Given the description of an element on the screen output the (x, y) to click on. 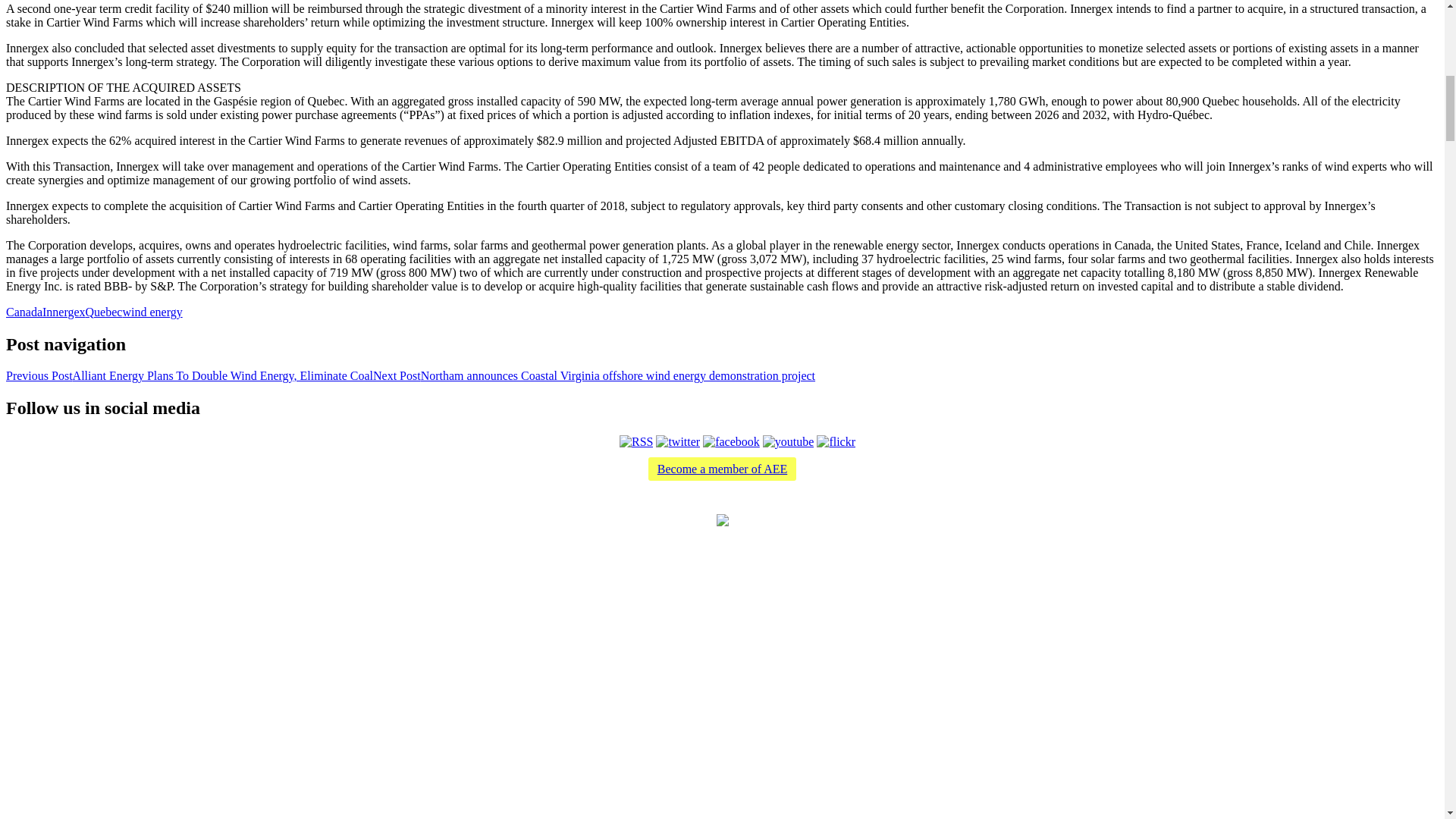
Canada (23, 311)
Innergex (63, 311)
RSS (636, 441)
Become a member of AEE (721, 468)
flickr (836, 440)
youtube (787, 441)
RSS (635, 440)
Quebec (103, 311)
twitter (677, 440)
wind energy (152, 311)
twitter (678, 441)
youtube (788, 440)
facebook (731, 441)
